Given the description of an element on the screen output the (x, y) to click on. 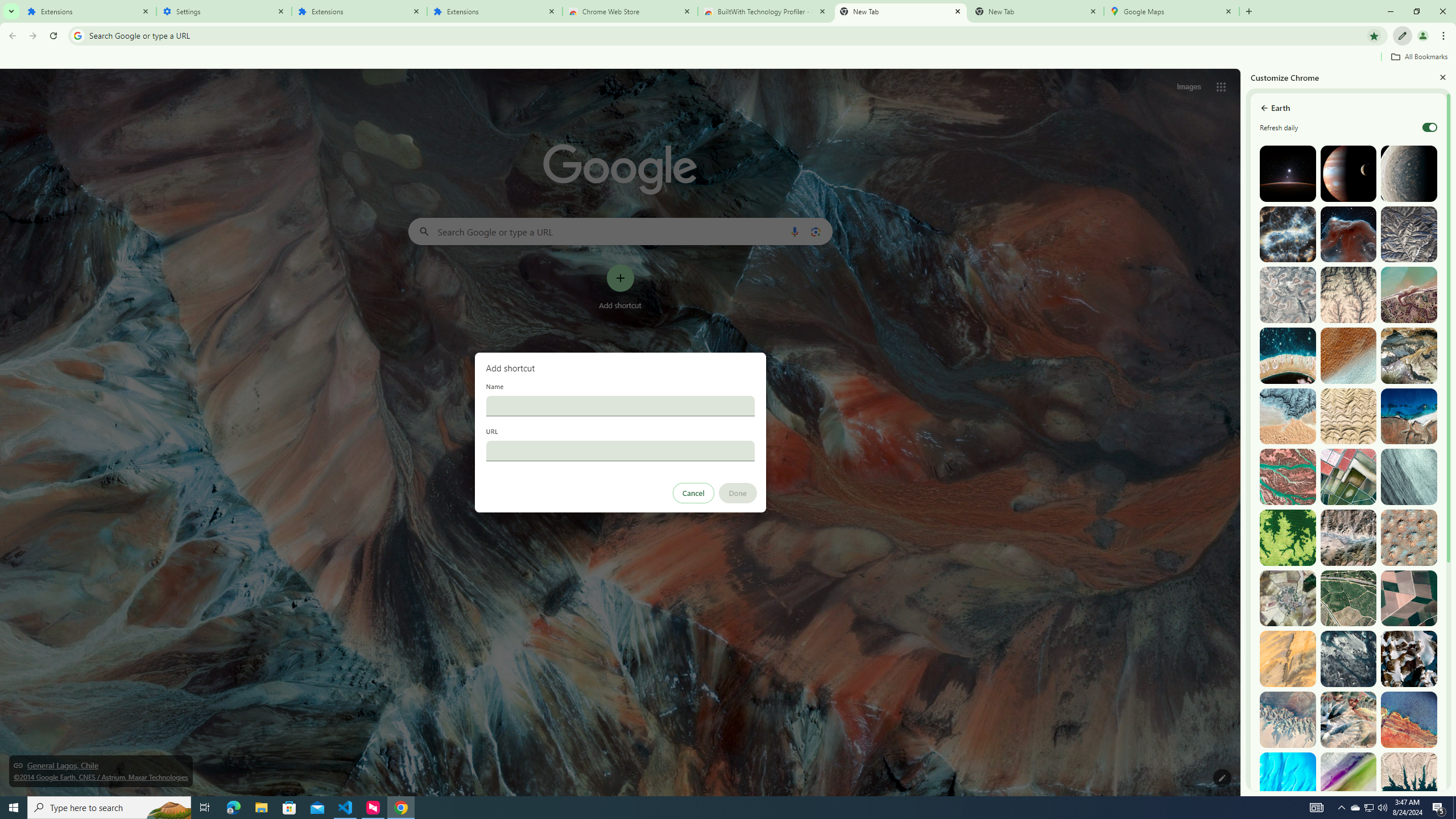
South Eleuthera, The Bahamas (1287, 780)
Back (10, 35)
Granville, France (1348, 658)
BuiltWith Technology Profiler - Chrome Web Store (765, 11)
URL (620, 450)
Search icon (77, 35)
Forward (32, 35)
Minimize (1390, 11)
Davis County, United States (1348, 780)
Reload (52, 35)
Extensions (359, 11)
Pozoantiguo, Spain (1287, 598)
Hardap, Namibia (1287, 416)
Name (620, 405)
